Given the description of an element on the screen output the (x, y) to click on. 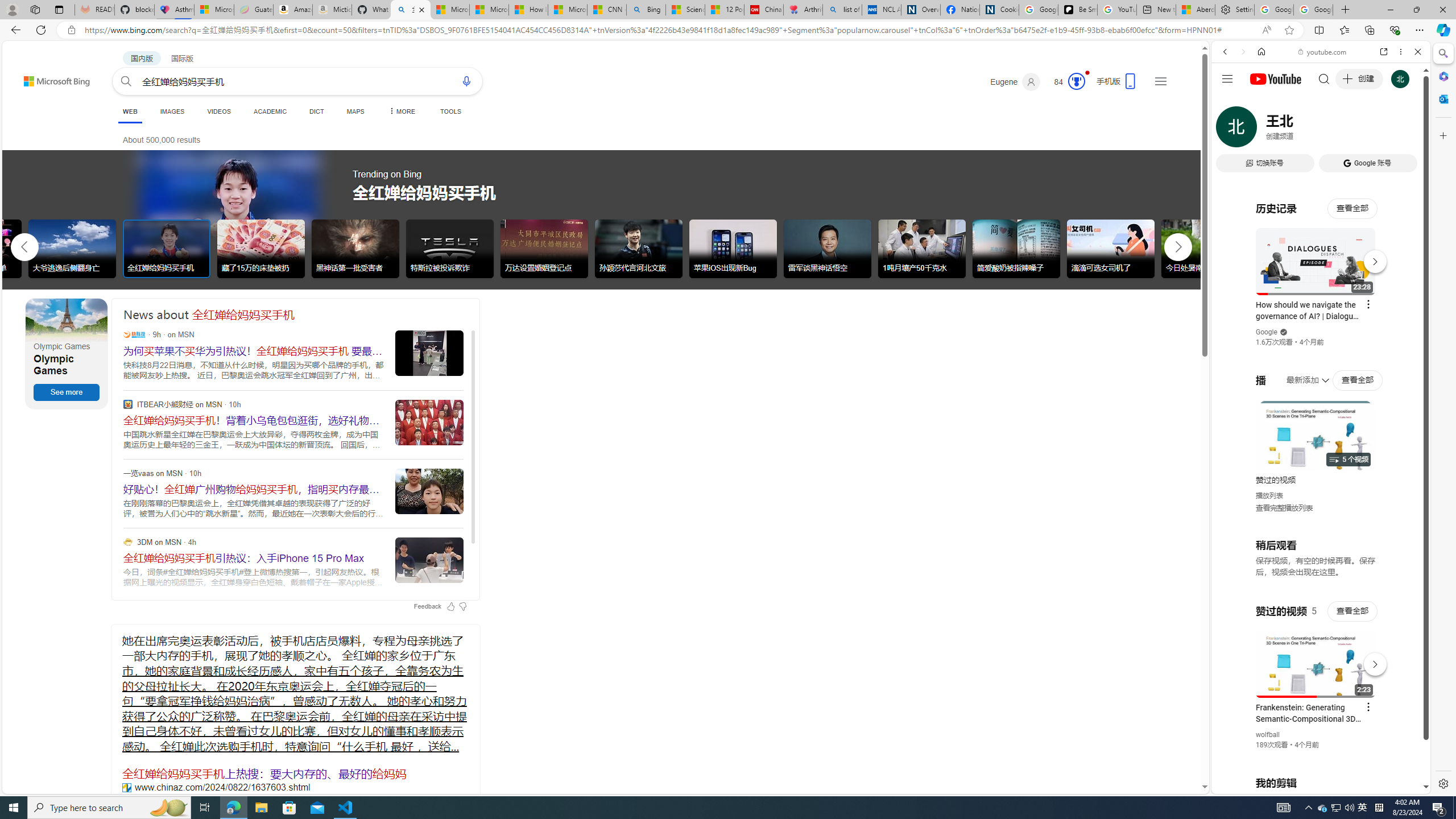
IMAGES (172, 111)
SEARCH TOOLS (1350, 130)
Be Smart | creating Science videos | Patreon (1077, 9)
TOOLS (450, 111)
Web scope (1230, 102)
Cookies (999, 9)
Feedback Dislike (462, 605)
